Given the description of an element on the screen output the (x, y) to click on. 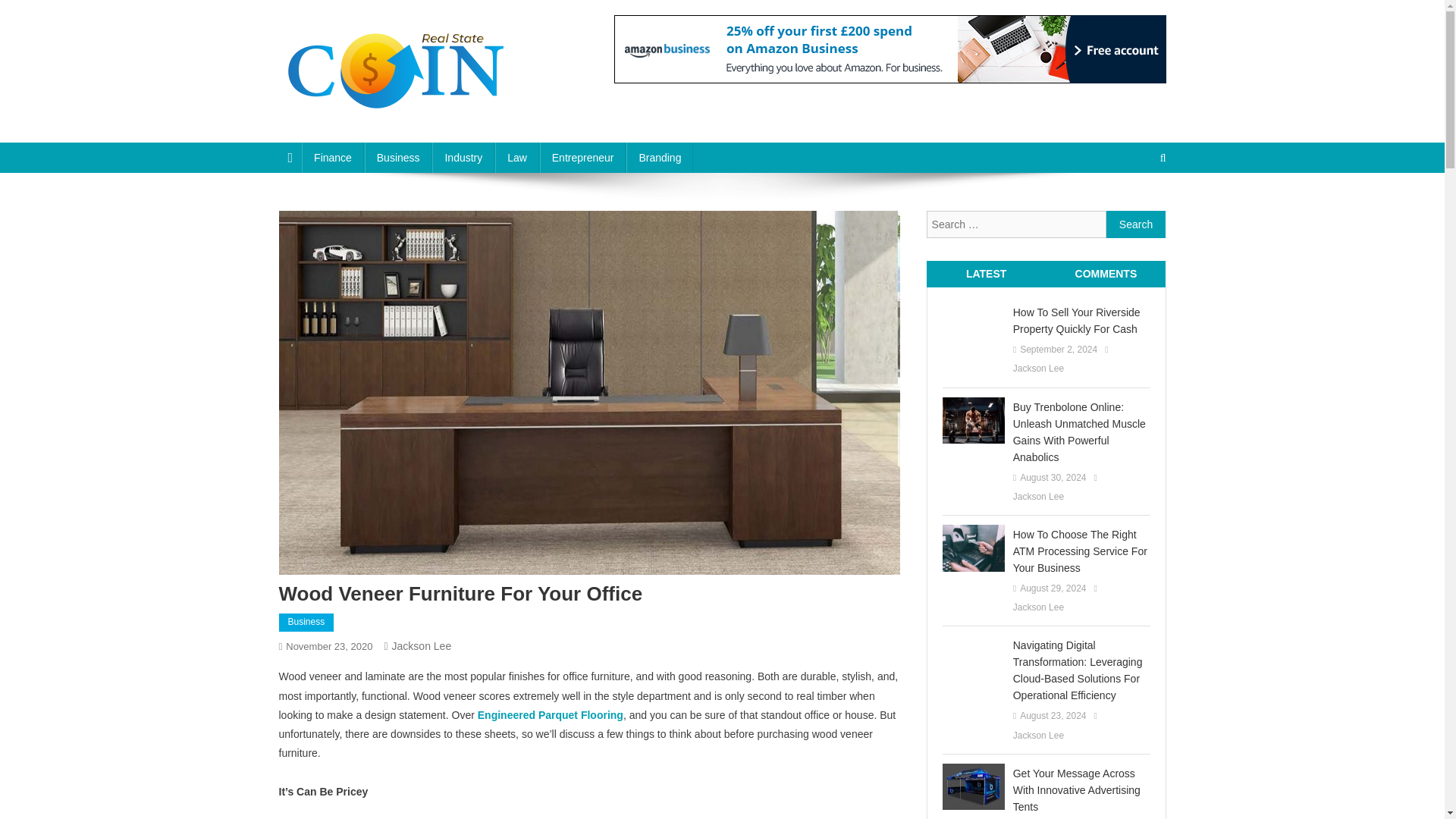
Business (398, 157)
Engineered Parquet Flooring (550, 715)
How To Sell Your Riverside Property Quickly For Cash (1081, 320)
Law (516, 157)
Finance (332, 157)
Search (1136, 224)
Jackson Lee (421, 645)
Realstate Coin (362, 126)
Jackson Lee (1038, 369)
COMMENTS (1105, 273)
